Given the description of an element on the screen output the (x, y) to click on. 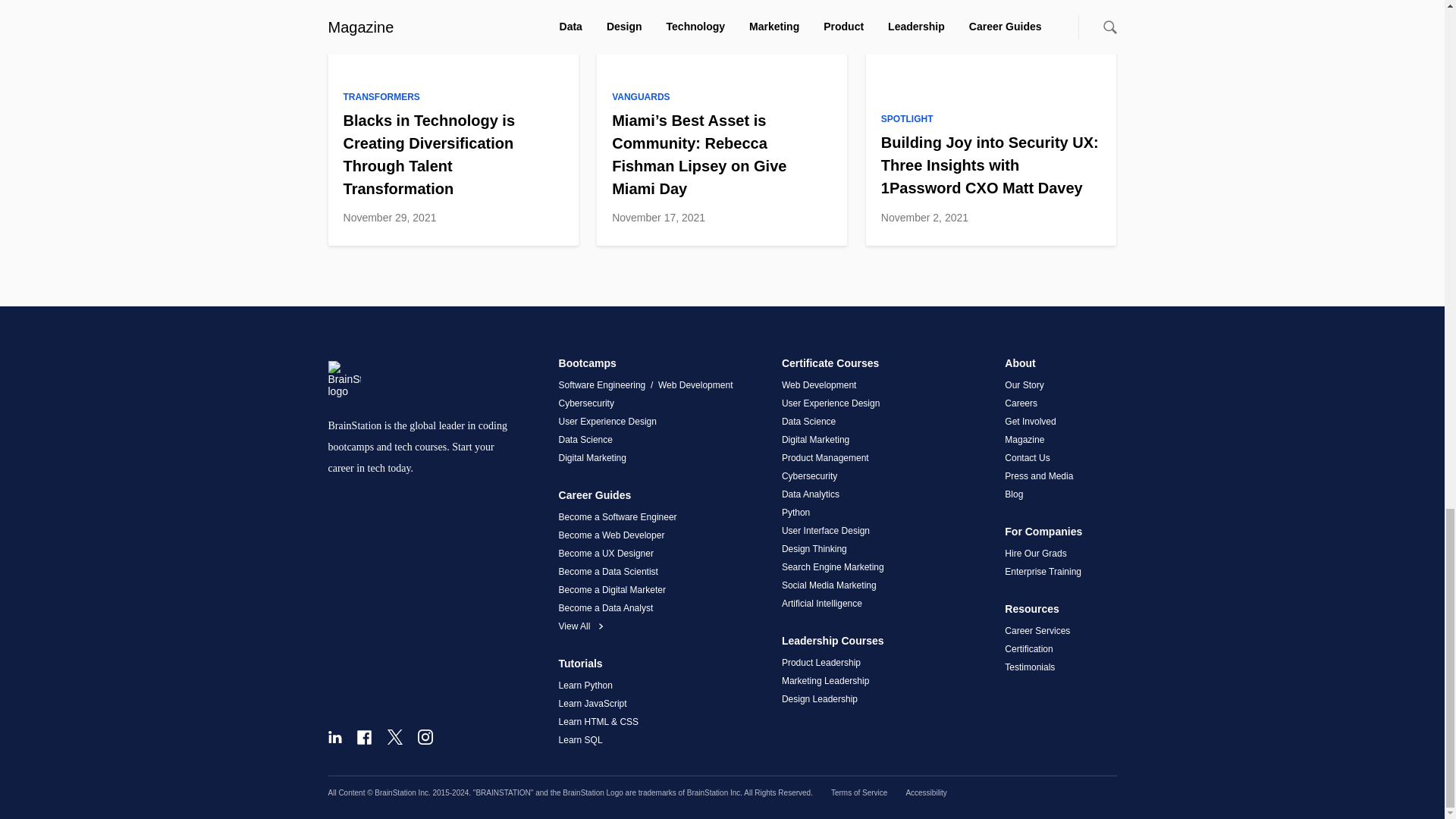
BrainStation Facebook (363, 737)
BrainStation LinkedIn (333, 736)
BrainStation X (394, 736)
BrainStation Instagram (424, 736)
